Given the description of an element on the screen output the (x, y) to click on. 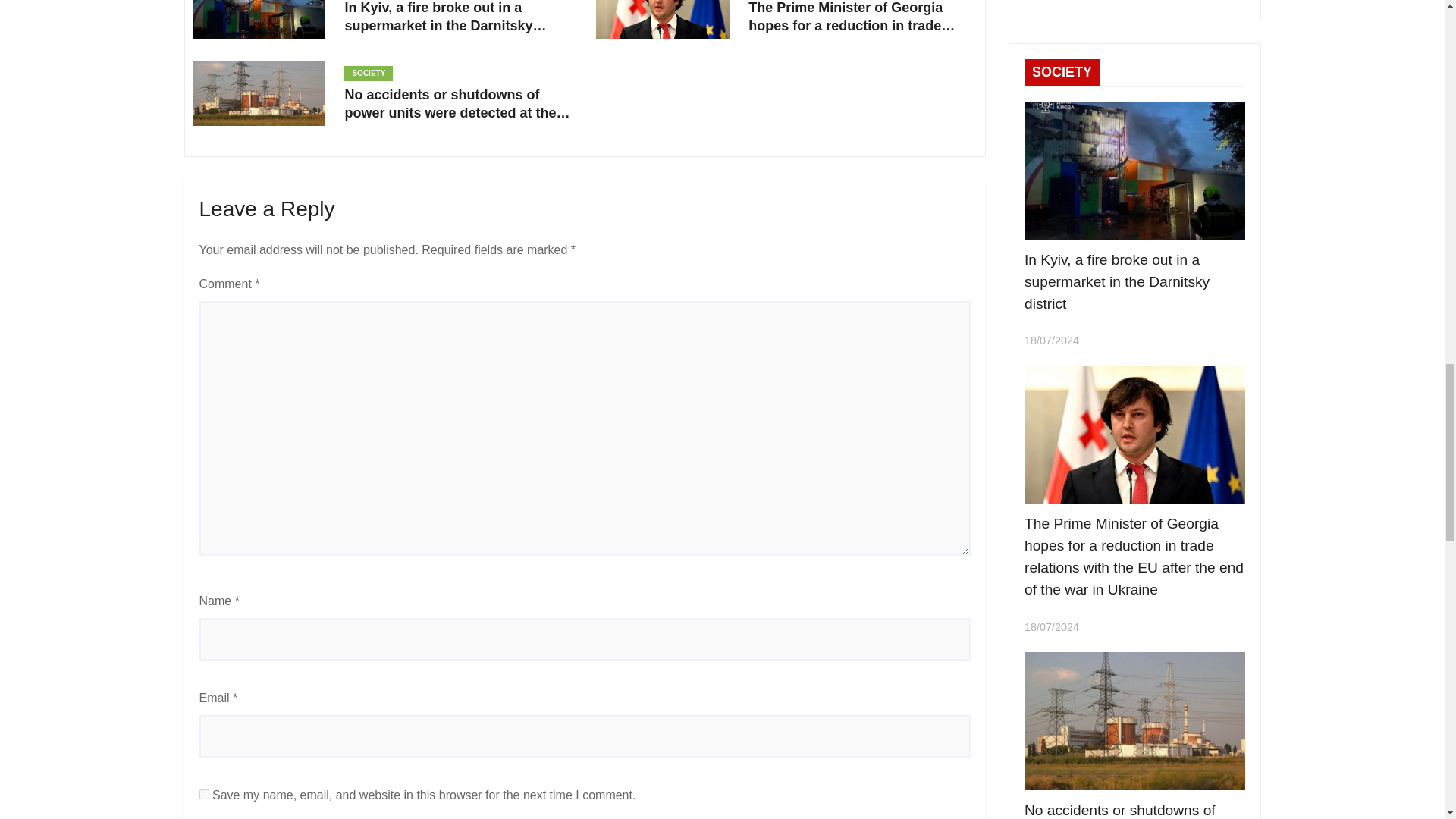
yes (203, 794)
